Given the description of an element on the screen output the (x, y) to click on. 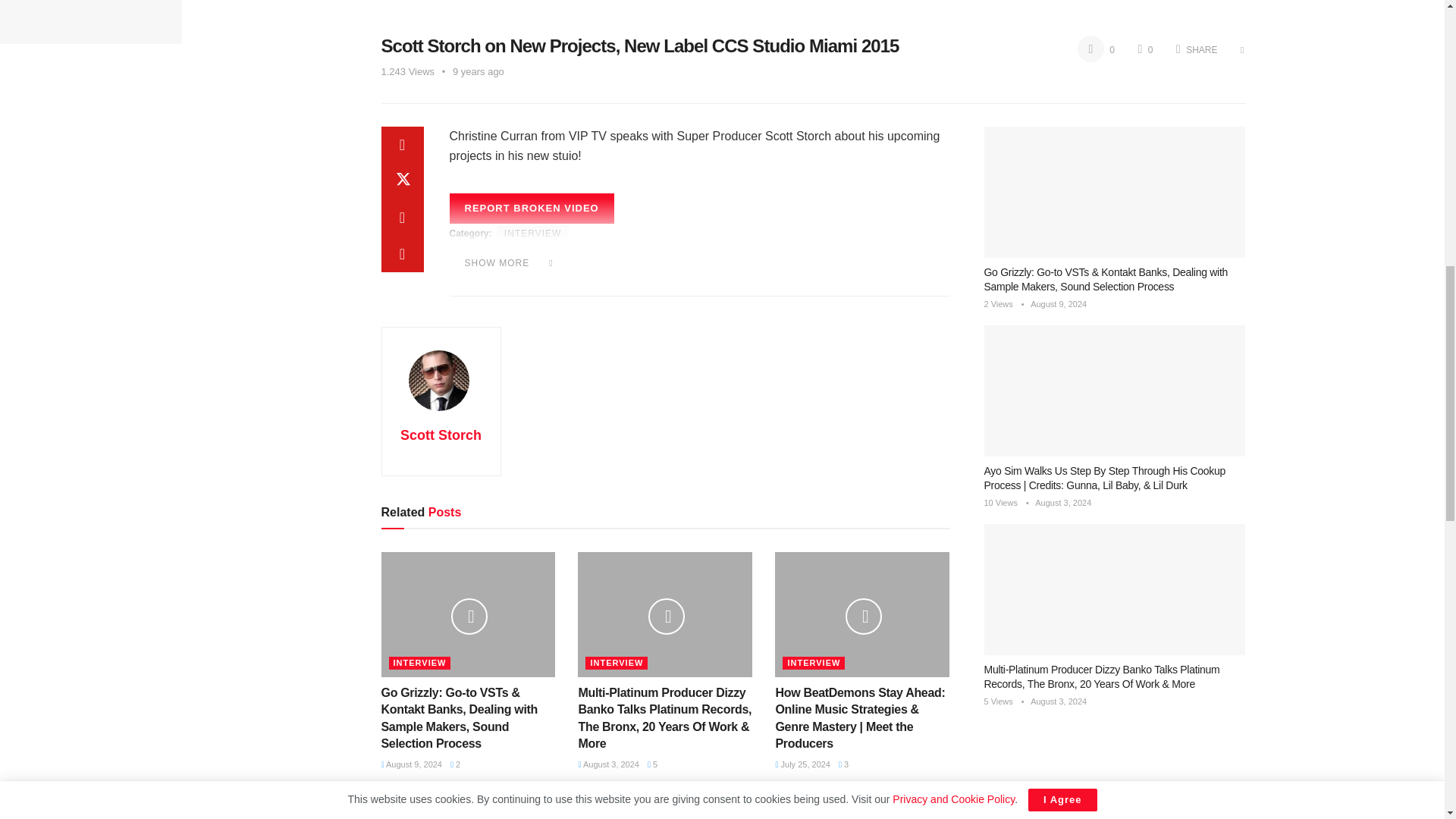
0 (1145, 50)
9 years ago (477, 71)
Report broken video (530, 208)
Advertisement (90, 84)
0 (1096, 50)
